Given the description of an element on the screen output the (x, y) to click on. 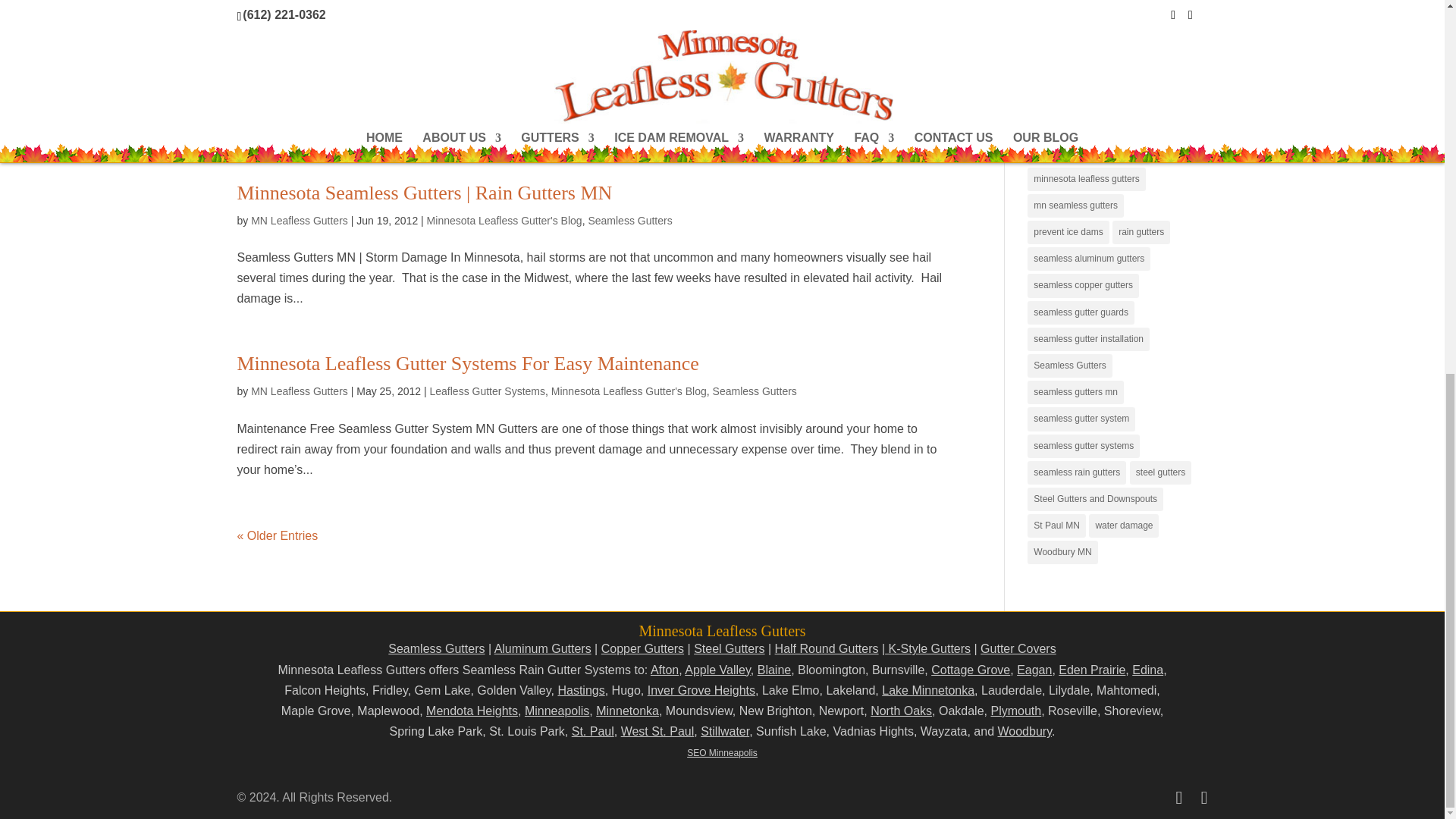
Leafless Seamless Gutters Minnetonka MN (627, 710)
Leafless Seamless Gutters Afton MN (664, 669)
Seamless Gutter Guards Woodbury MN (1024, 730)
Leafless Seamless Gutters North Oaks (900, 710)
Seamless Gutters West St Paul MN (657, 730)
Leafless Seamless Gutters Cottage Grove MN (970, 669)
Posts by MN Leafless Gutters (298, 220)
Posts by MN Leafless Gutters (298, 390)
Seamless Gutters Minneapolis (556, 710)
Minneapolis Search Engine Optimization Services (722, 752)
Seamless Gutters St Paul MN (593, 730)
Seamless Gutters Inver Grove Heights (701, 689)
